Given the description of an element on the screen output the (x, y) to click on. 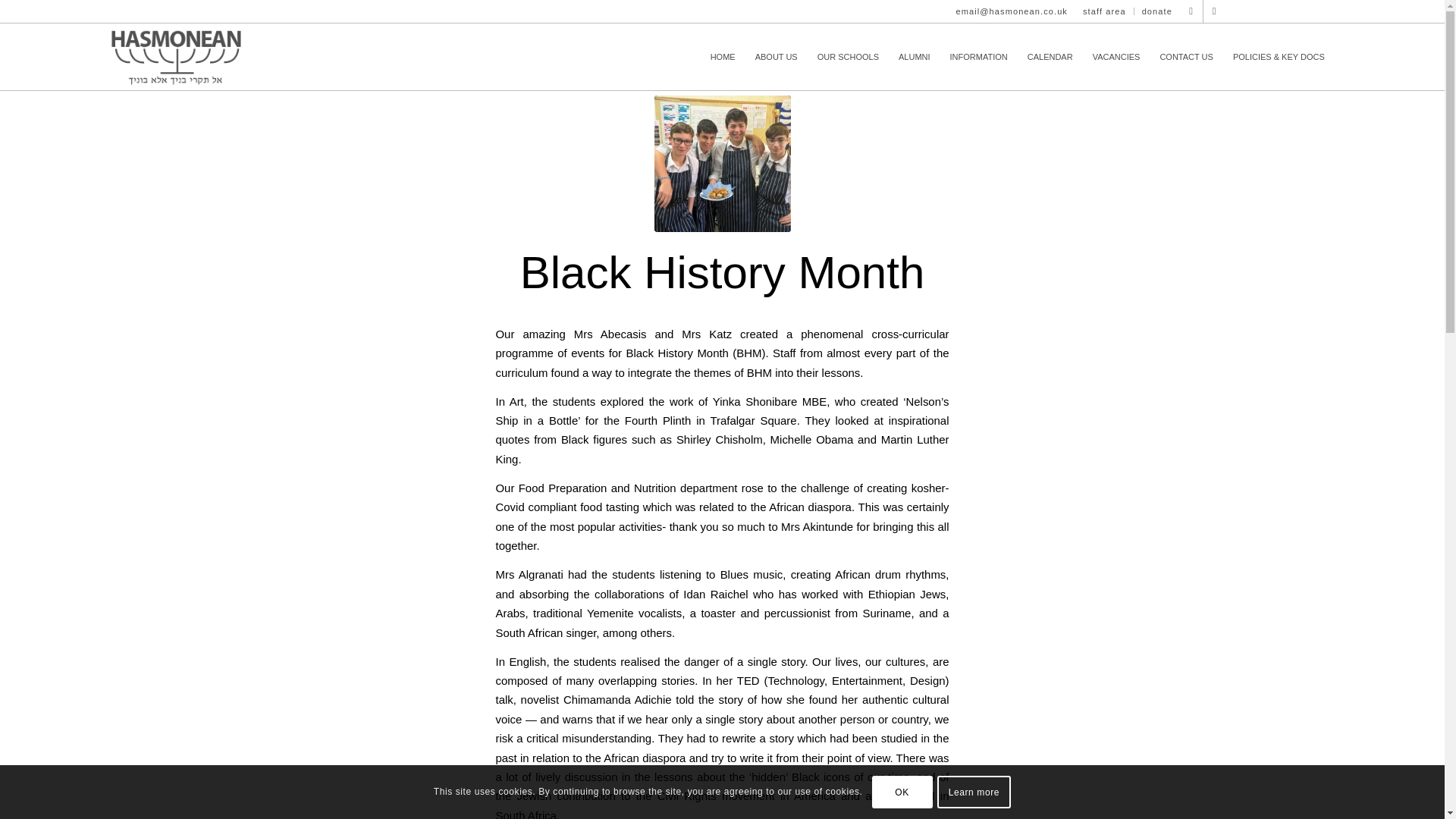
Learn more (974, 791)
INFORMATION (978, 56)
BHM Pic4 (721, 163)
donate (1156, 11)
CONTACT US (1186, 56)
Facebook (1214, 11)
ABOUT US (776, 56)
staff area (1104, 11)
OK (902, 791)
CALENDAR (1050, 56)
OUR SCHOOLS (848, 56)
Twitter (1191, 11)
Permanent Link: Black History Month (721, 272)
Black History Month (721, 272)
VACANCIES (1116, 56)
